Given the description of an element on the screen output the (x, y) to click on. 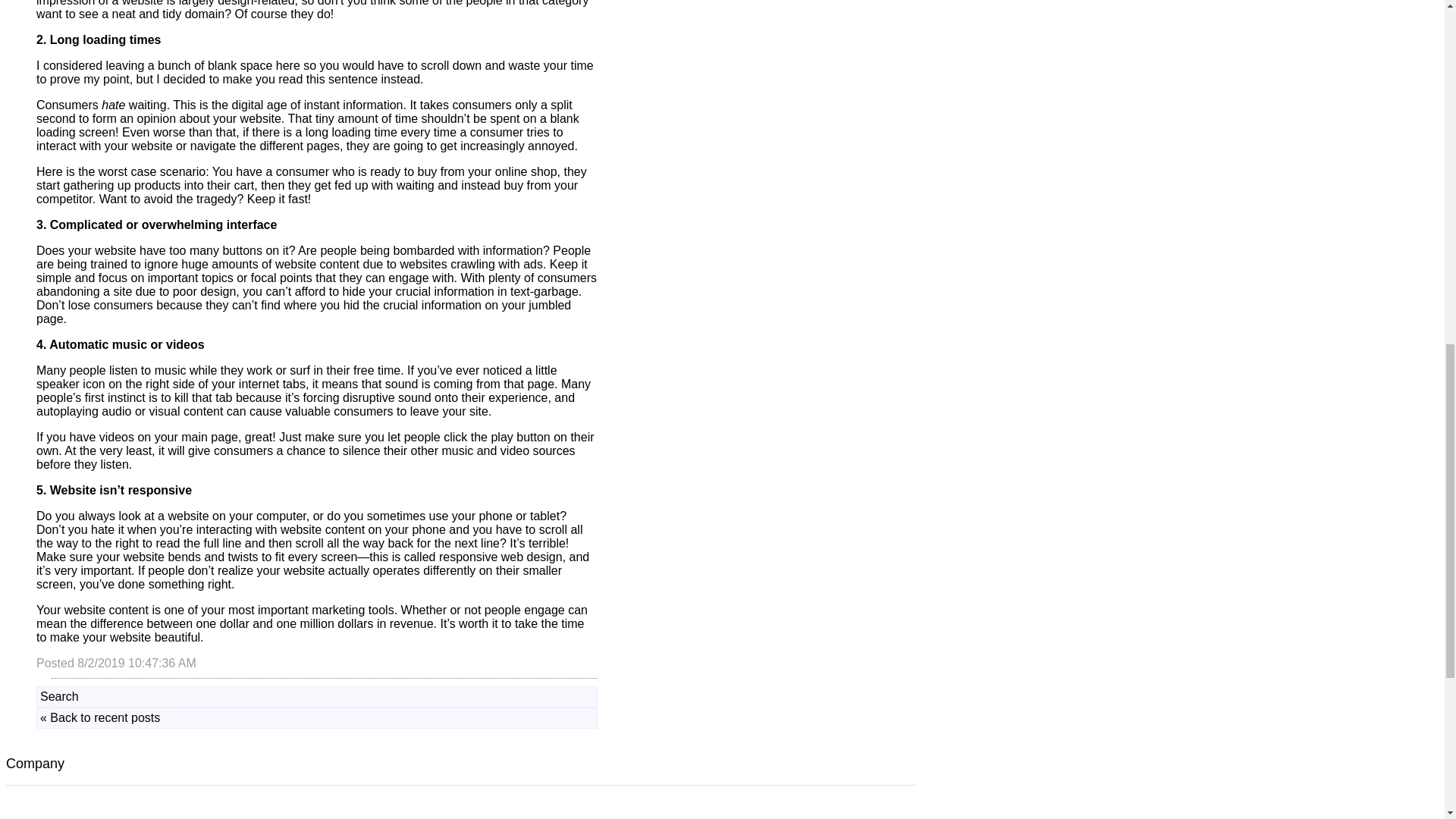
Search (59, 696)
